Given the description of an element on the screen output the (x, y) to click on. 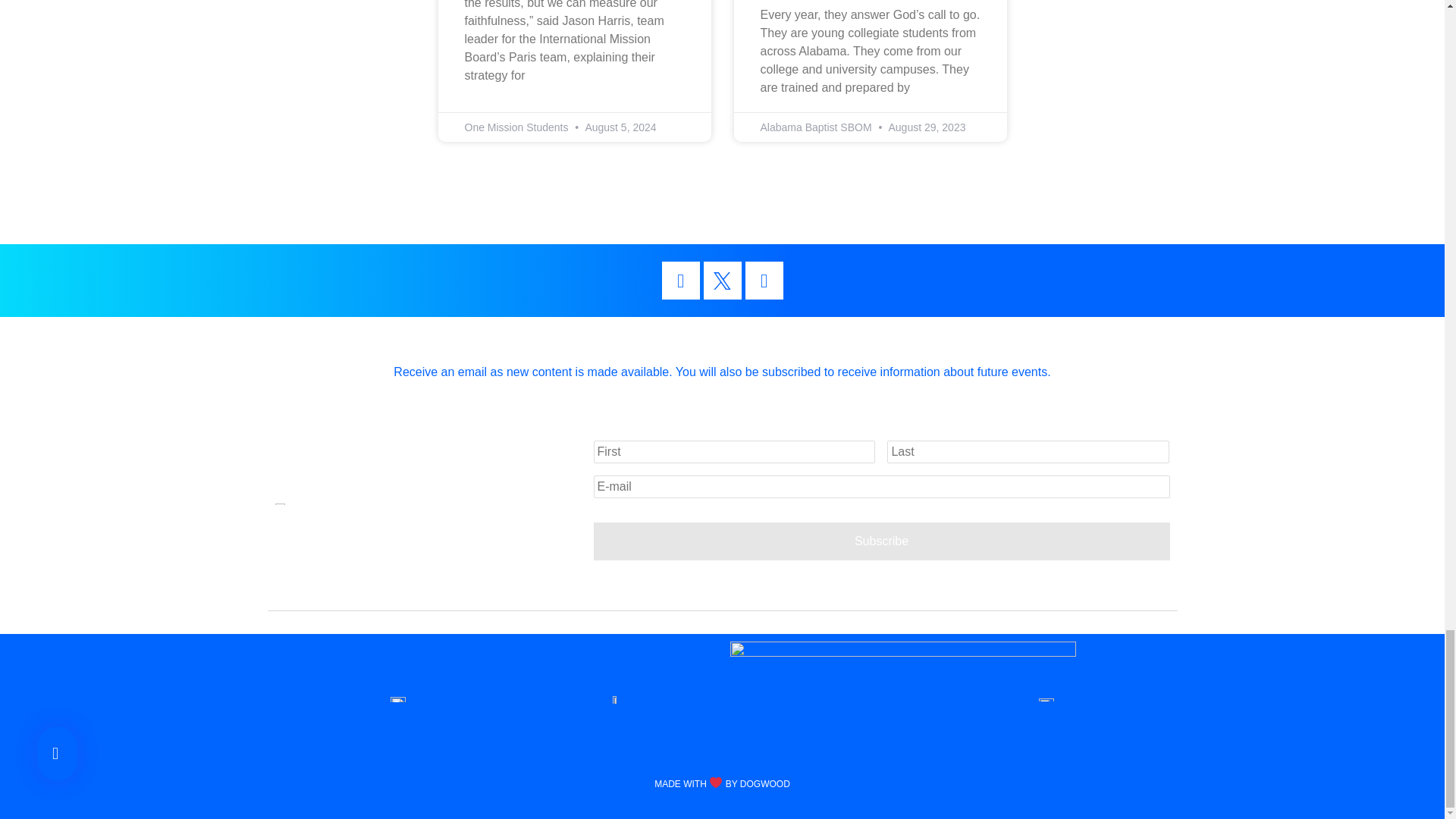
Facebook-f (679, 280)
Instagram (763, 280)
Subscribe (880, 541)
DOGWOOD (764, 783)
Subscribe (880, 541)
